Given the description of an element on the screen output the (x, y) to click on. 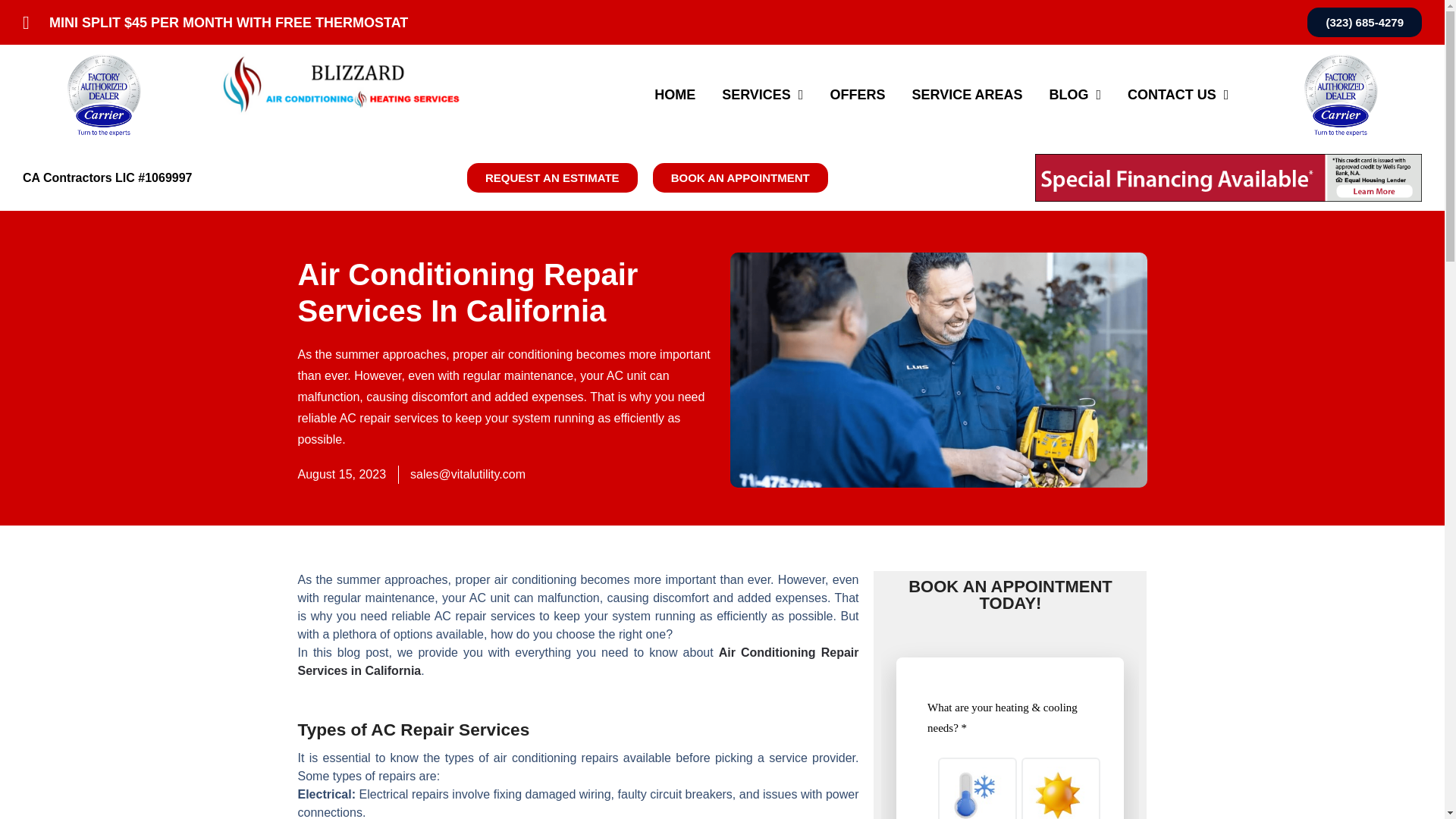
OFFERS (857, 94)
Landing Page - June 2024 (1009, 723)
SERVICES (762, 94)
CONTACT US (1177, 94)
HOME (674, 94)
BLOG (1075, 94)
SERVICE AREAS (966, 94)
